Given the description of an element on the screen output the (x, y) to click on. 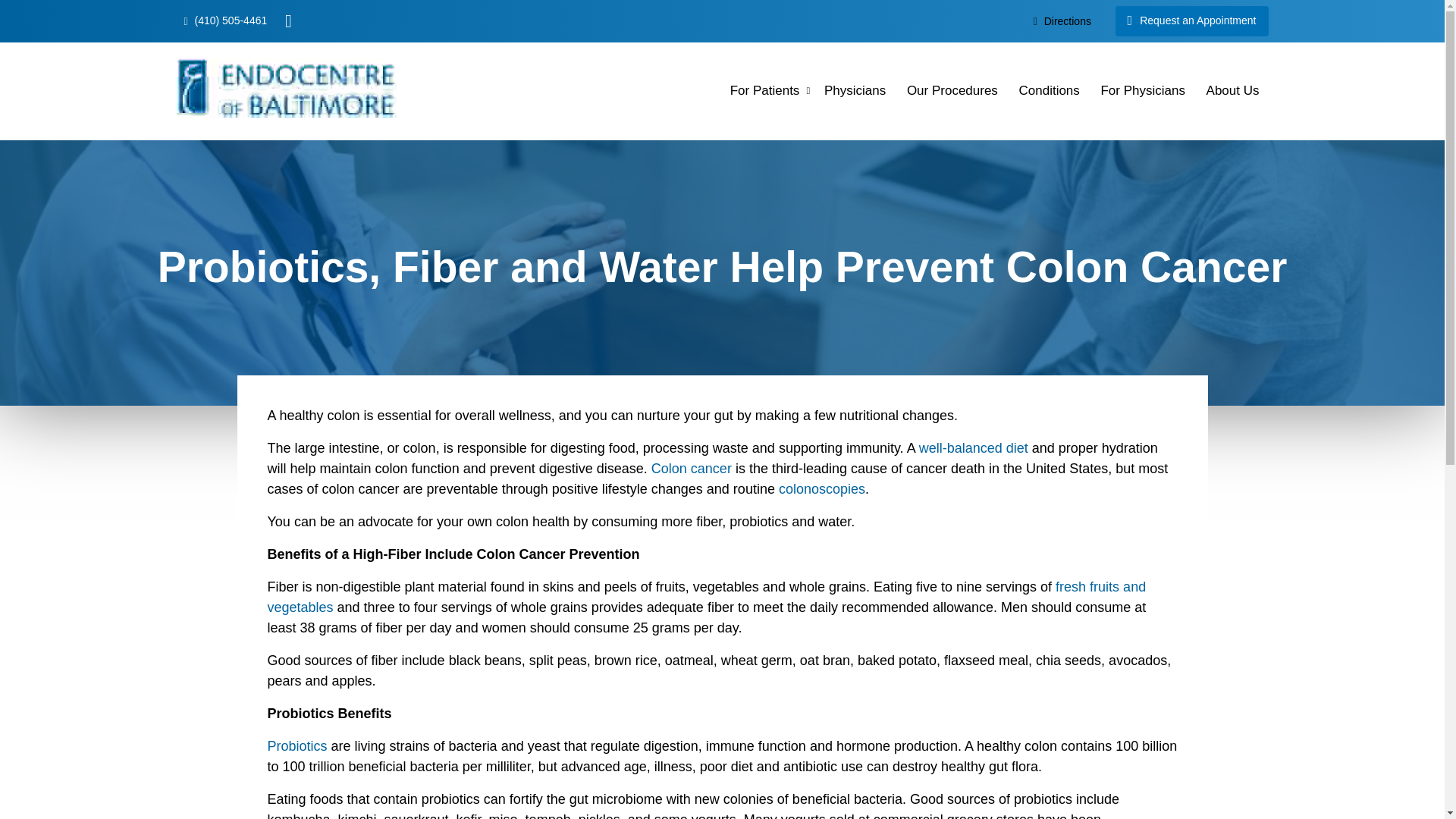
Colon cancer (691, 468)
For Patients (764, 90)
Request an Appointment (1191, 20)
Probiotics (296, 745)
Our Procedures (952, 90)
well-balanced diet (972, 447)
Directions (1061, 20)
EndoCentre of Baltimore (286, 87)
colonoscopies (821, 488)
For Physicians (1141, 90)
fresh fruits and vegetables (705, 597)
